Given the description of an element on the screen output the (x, y) to click on. 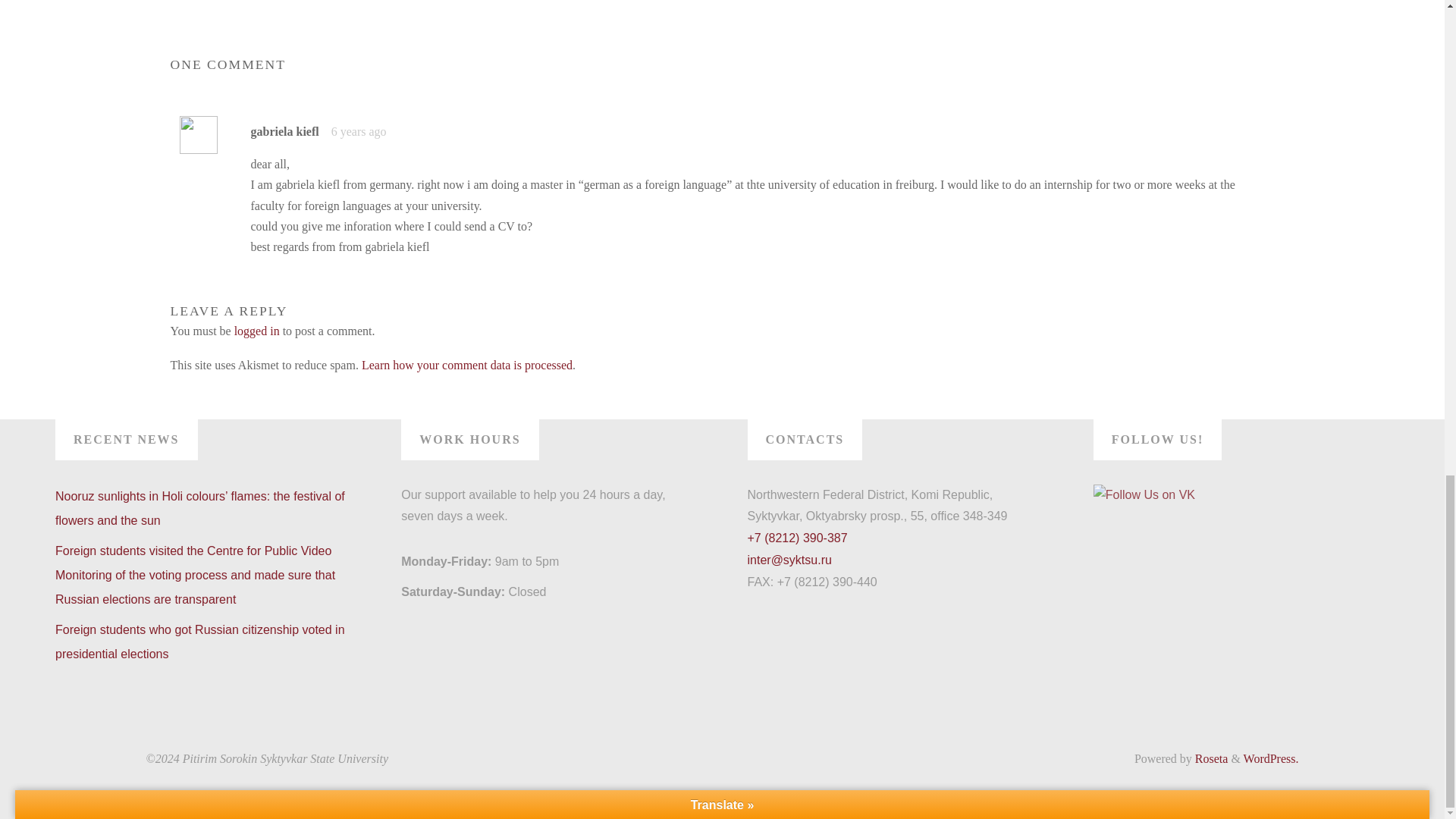
Roseta WordPress Theme by Cryout Creations (1210, 758)
Follow Us on VK (1144, 495)
Semantic Personal Publishing Platform (1270, 758)
